Given the description of an element on the screen output the (x, y) to click on. 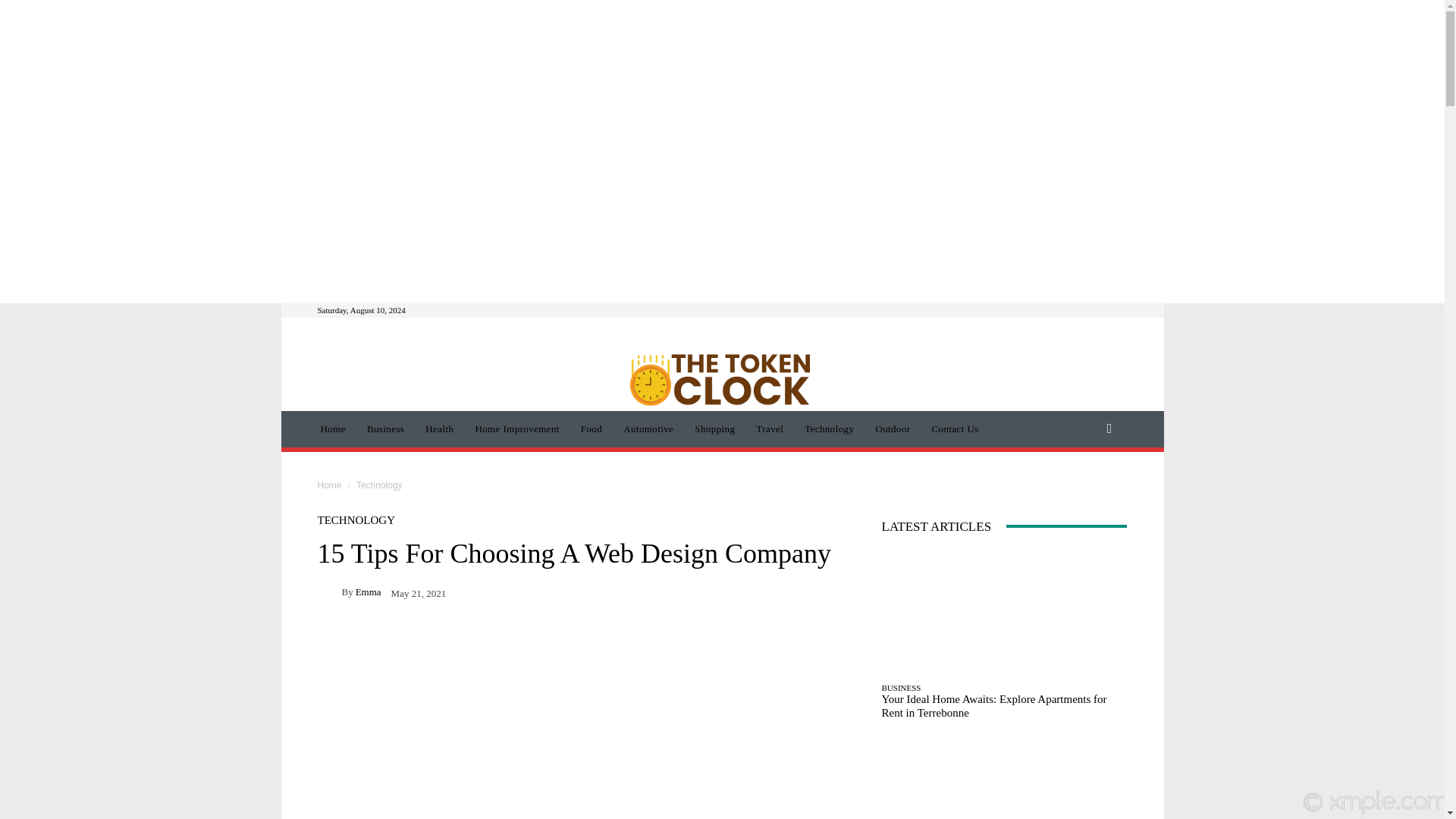
Outdoor (892, 429)
TECHNOLOGY (355, 520)
Contact Us (955, 429)
Home (328, 484)
Shopping (714, 429)
Technology (379, 484)
View all posts in Technology (379, 484)
Home Improvement (516, 429)
